Given the description of an element on the screen output the (x, y) to click on. 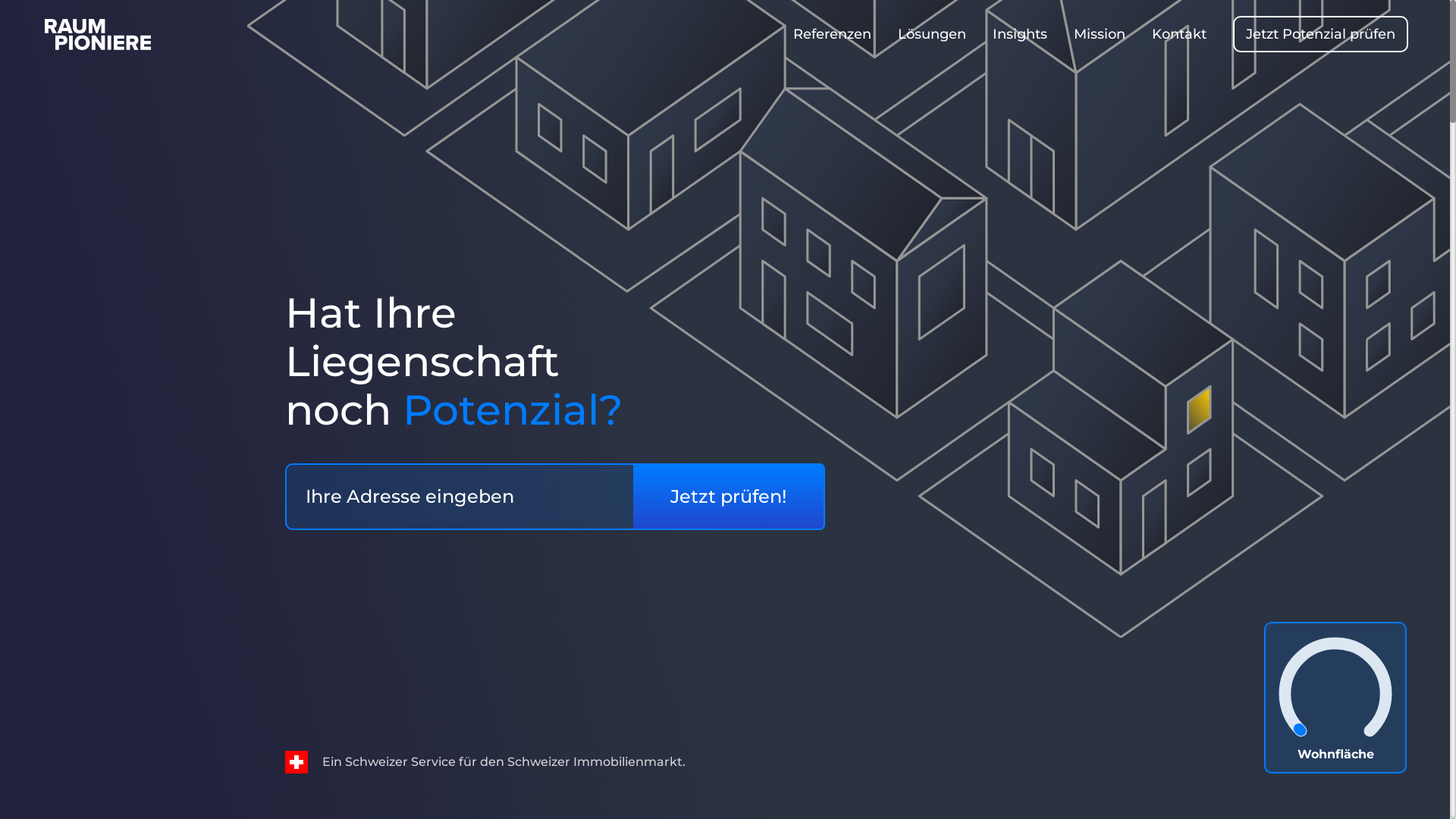
Insights Element type: text (1019, 34)
Referenzen Element type: text (832, 34)
Mission Element type: text (1099, 34)
